Given the description of an element on the screen output the (x, y) to click on. 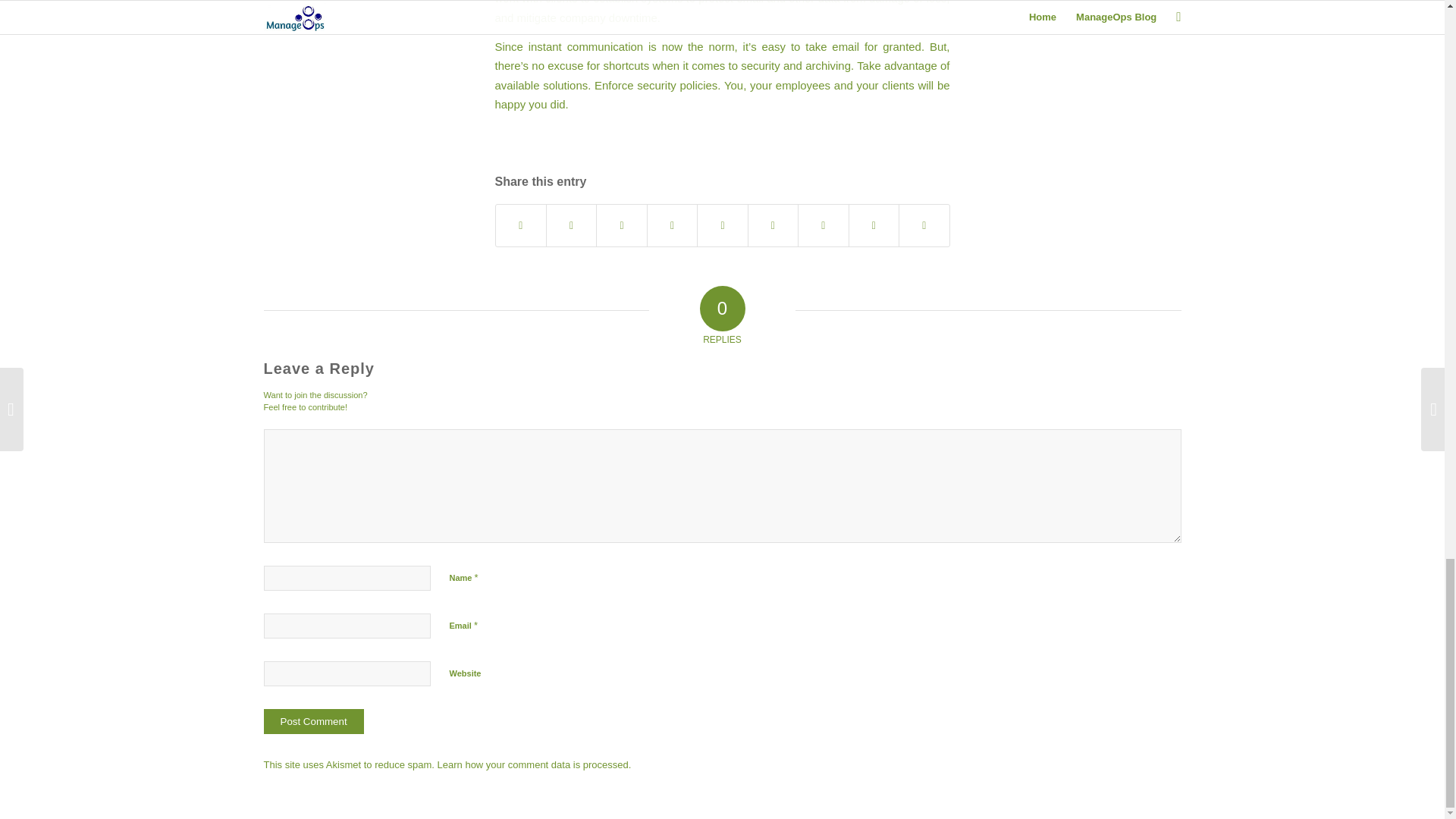
Learn how your comment data is processed (533, 764)
Post Comment (313, 721)
Post Comment (313, 721)
